Given the description of an element on the screen output the (x, y) to click on. 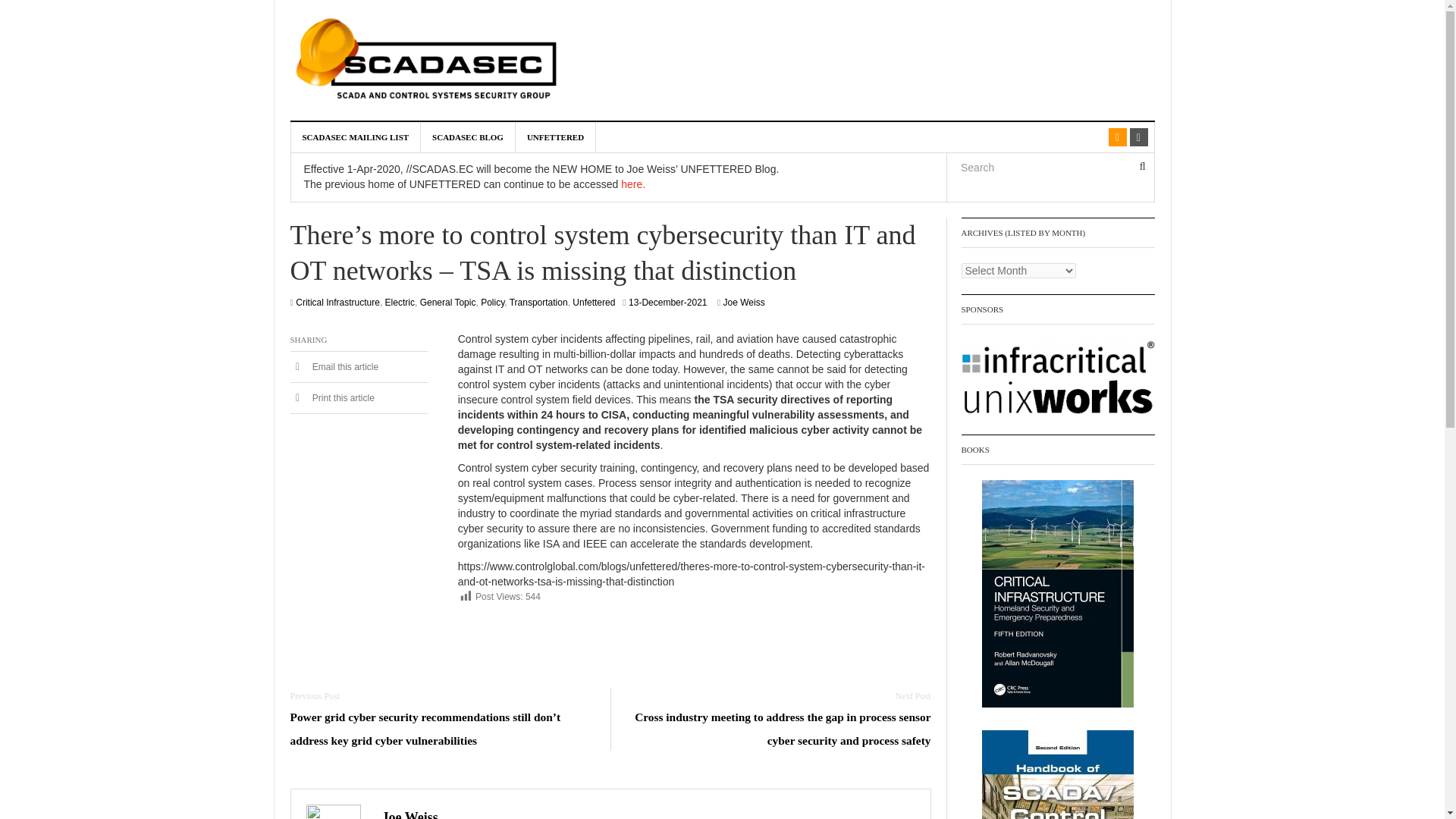
UNFETTERED (555, 137)
Email this article (333, 366)
Unfettered (593, 302)
SCADASEC BLOG (467, 137)
SCADASEC MAILING LIST (356, 137)
Transportation (538, 302)
here. (633, 184)
Critical Infrastructure (337, 302)
Print this article (331, 398)
Joe Weiss (409, 814)
